Given the description of an element on the screen output the (x, y) to click on. 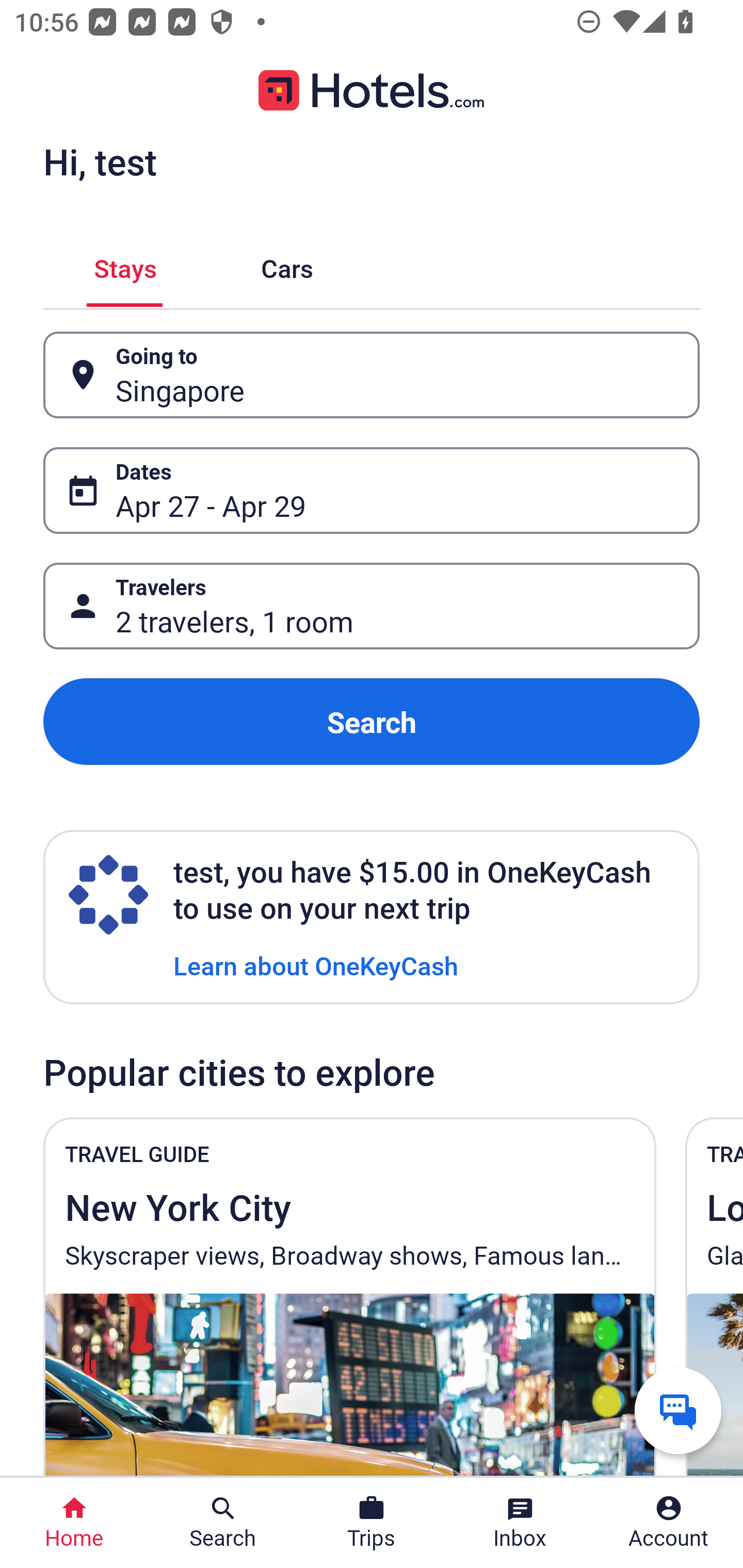
Hi, test (99, 161)
Cars (286, 265)
Going to Button Singapore (371, 375)
Dates Button Apr 27 - Apr 29 (371, 489)
Travelers Button 2 travelers, 1 room (371, 605)
Search (371, 721)
Learn about OneKeyCash Learn about OneKeyCash Link (315, 964)
Get help from a virtual agent (677, 1410)
Search Search Button (222, 1522)
Trips Trips Button (371, 1522)
Inbox Inbox Button (519, 1522)
Account Profile. Button (668, 1522)
